Given the description of an element on the screen output the (x, y) to click on. 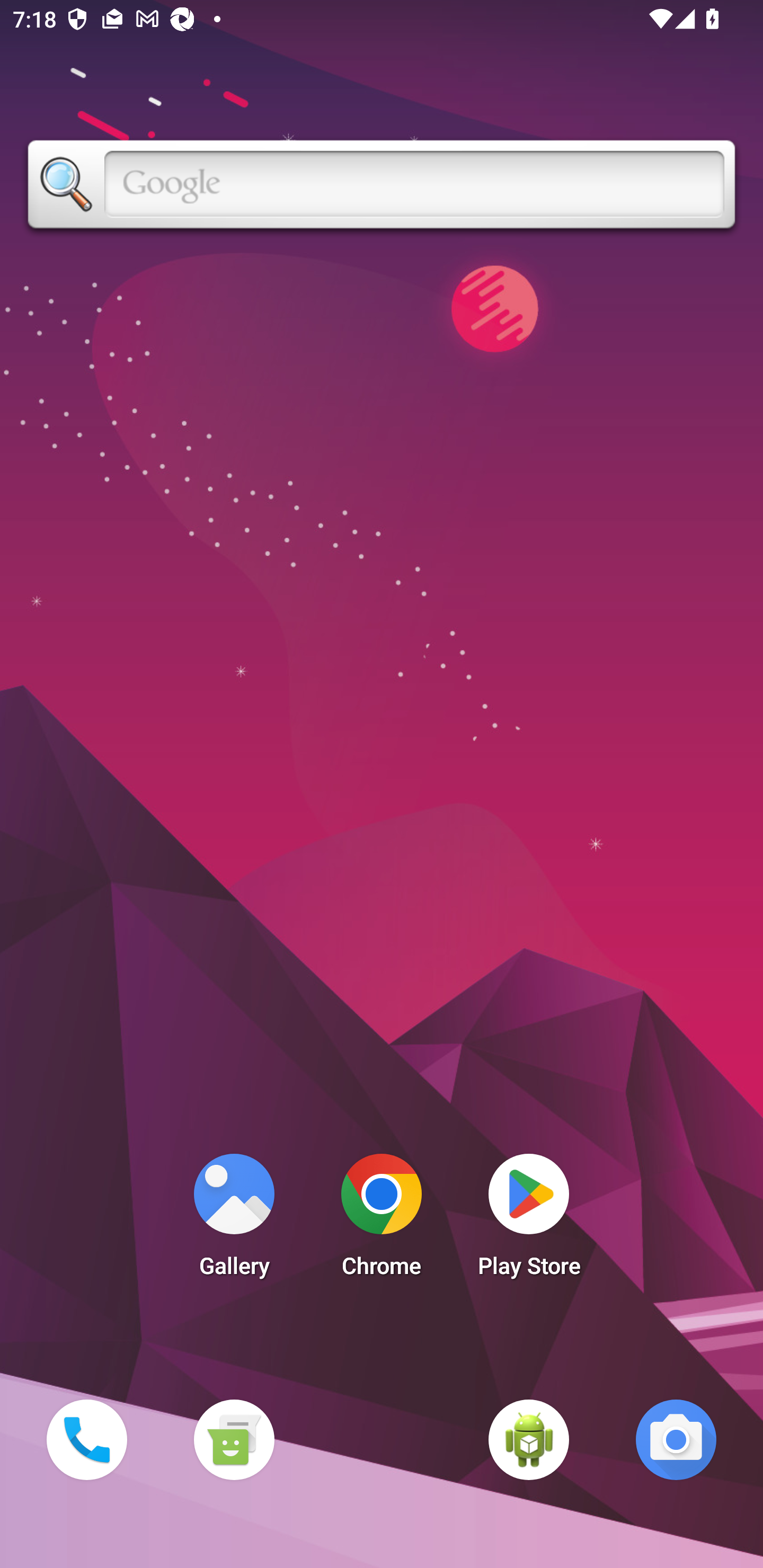
Gallery (233, 1220)
Chrome (381, 1220)
Play Store (528, 1220)
Phone (86, 1439)
Messaging (233, 1439)
WebView Browser Tester (528, 1439)
Camera (676, 1439)
